Given the description of an element on the screen output the (x, y) to click on. 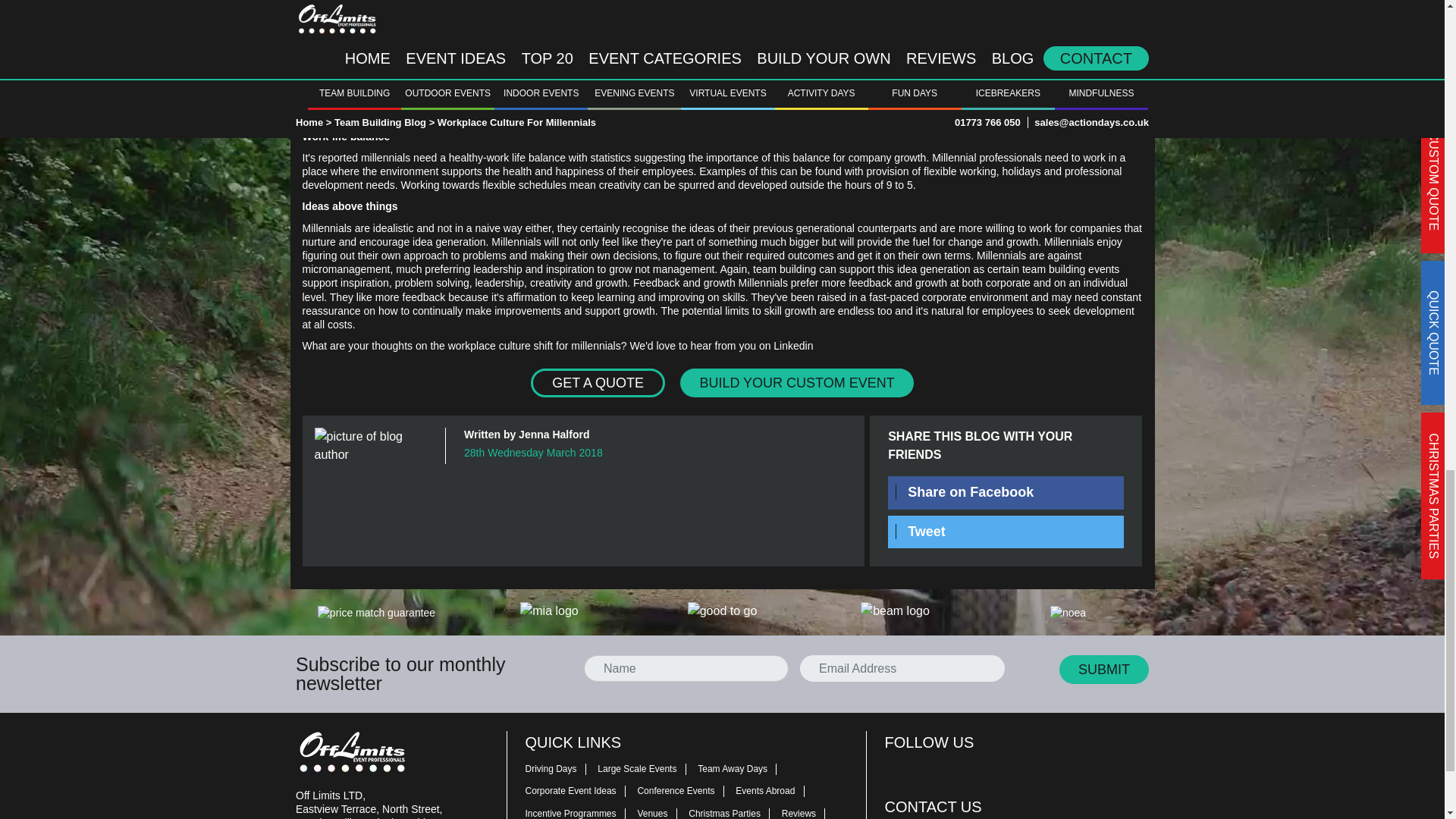
SUBMIT (1103, 669)
Share on Facebook (1006, 491)
Driving Days (559, 767)
Tweet (1006, 531)
